Given the description of an element on the screen output the (x, y) to click on. 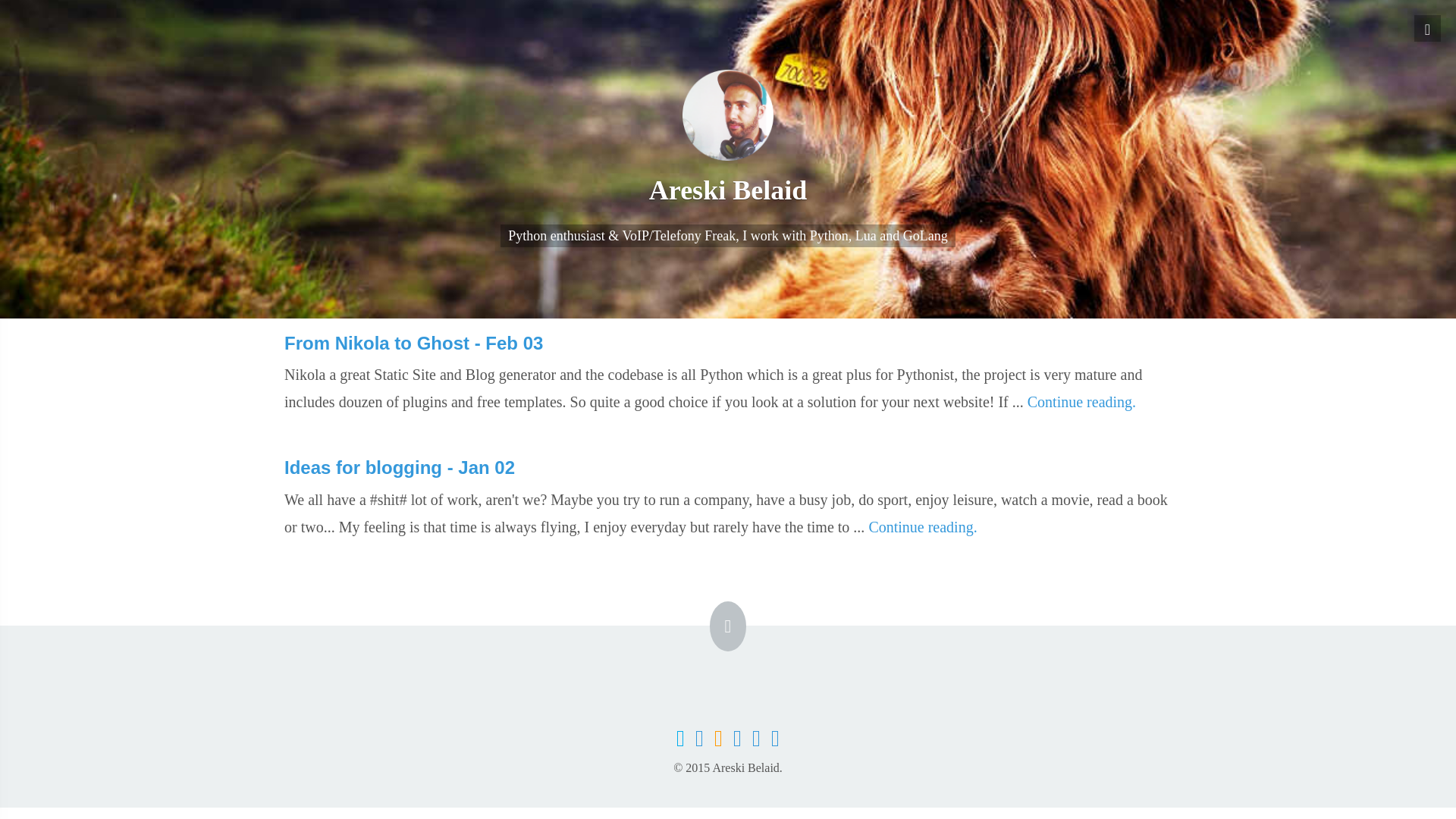
From Nikola to Ghost - Feb 03 (727, 358)
Continue reading. (1081, 401)
Continue reading. (921, 526)
Areski Belaid (721, 189)
Ideas for blogging - Jan 02 (727, 481)
